Given the description of an element on the screen output the (x, y) to click on. 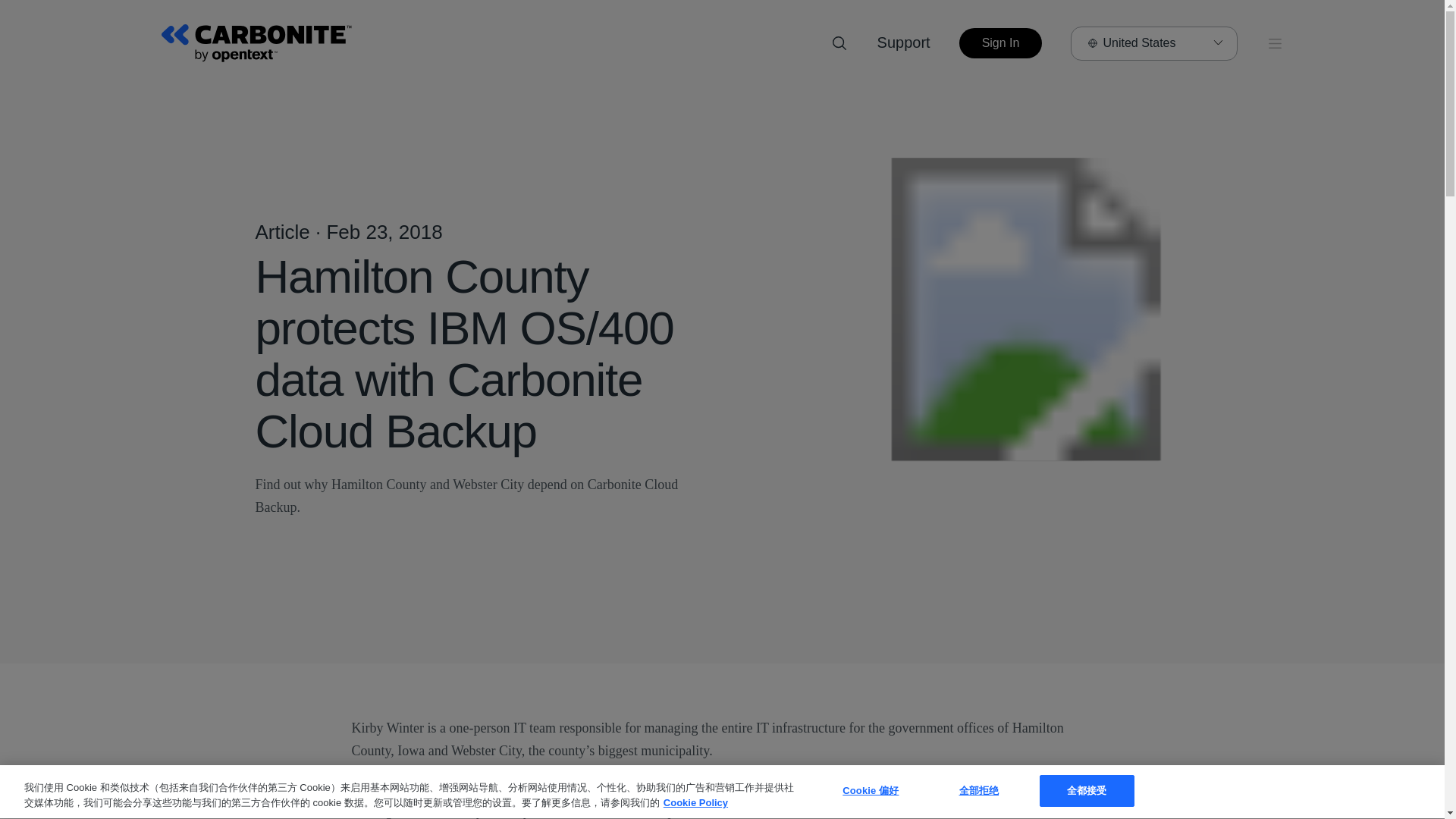
Sign In (1000, 42)
Support (903, 42)
United States (1153, 42)
Support (903, 42)
Sign In (1000, 42)
